Given the description of an element on the screen output the (x, y) to click on. 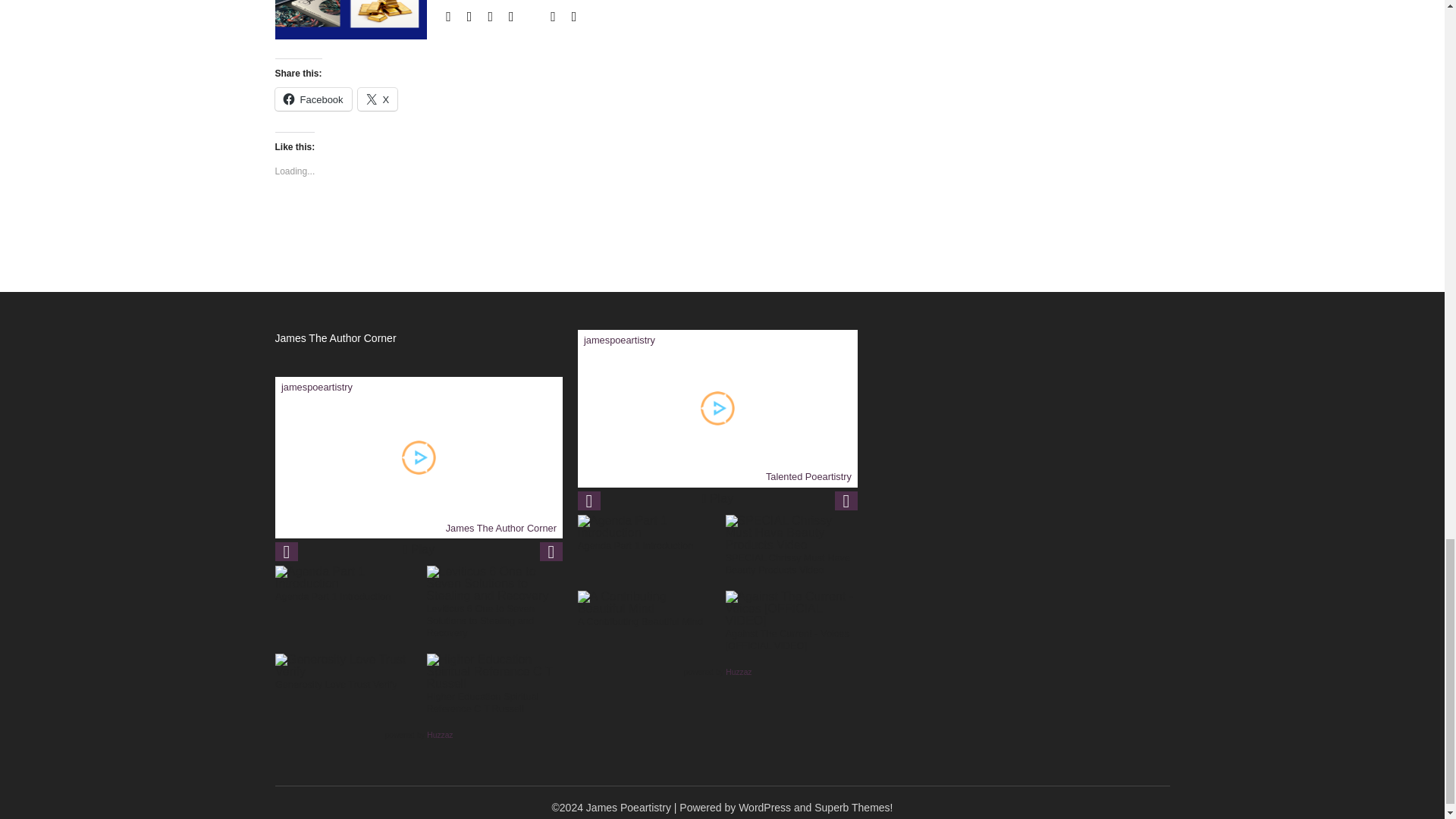
Superb Themes! (852, 807)
Click to share on Facebook (312, 98)
X (377, 98)
Click to share on X (377, 98)
Like or Reblog (569, 223)
Facebook (312, 98)
